Given the description of an element on the screen output the (x, y) to click on. 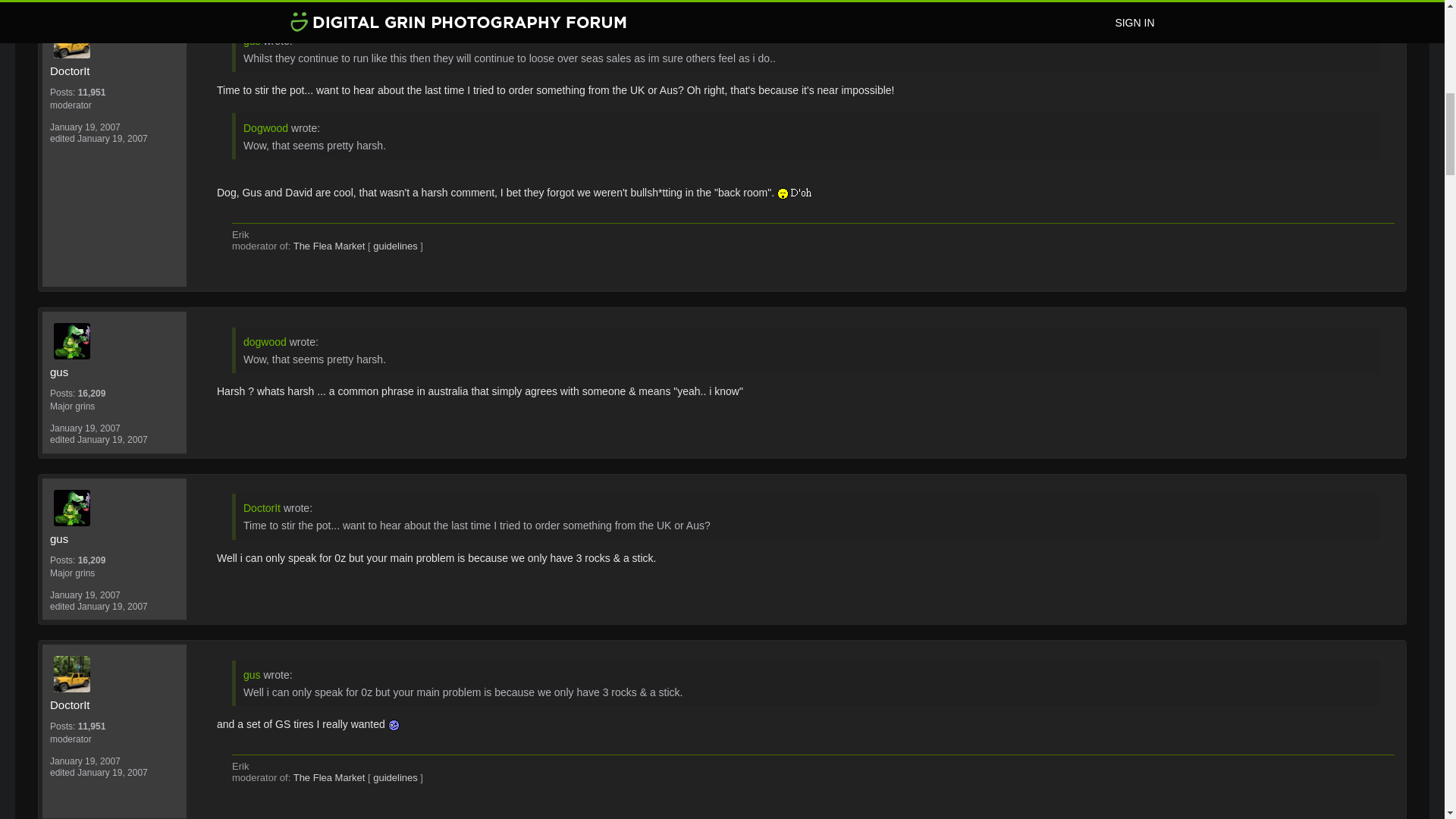
January 19, 2007 1:11PM (84, 127)
Admin (114, 105)
Major grins (114, 406)
Edited January 19, 2007 1:11PM by DoctorIt. (98, 138)
DoctorIt (114, 71)
gus (118, 340)
DoctorIt (118, 40)
